Given the description of an element on the screen output the (x, y) to click on. 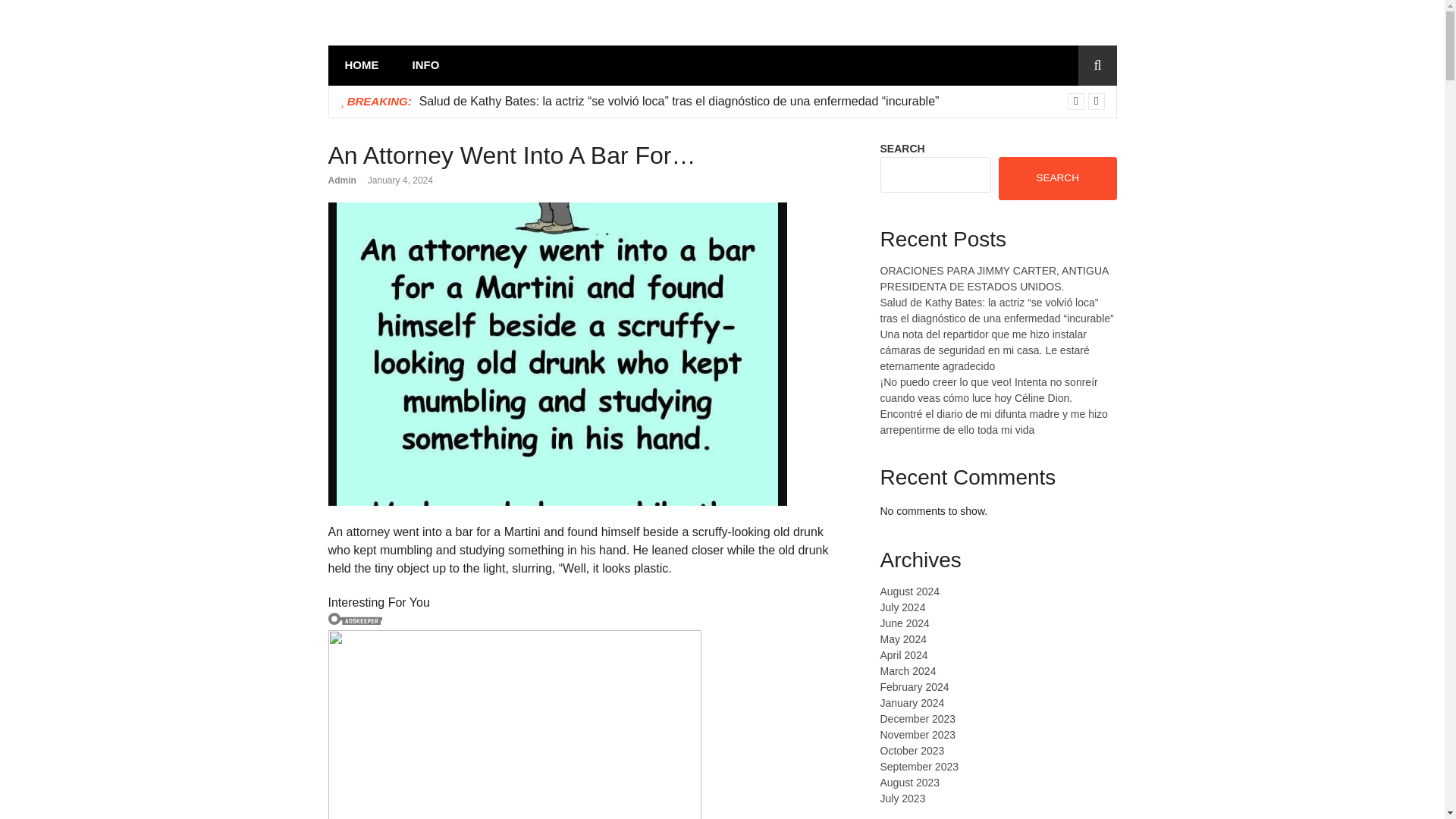
February 2024 (914, 686)
October 2023 (911, 750)
March 2024 (907, 671)
August 2024 (909, 591)
April 2024 (903, 654)
December 2023 (917, 718)
Admin (341, 180)
January 2024 (911, 702)
June 2024 (903, 623)
INFO (426, 65)
